Given the description of an element on the screen output the (x, y) to click on. 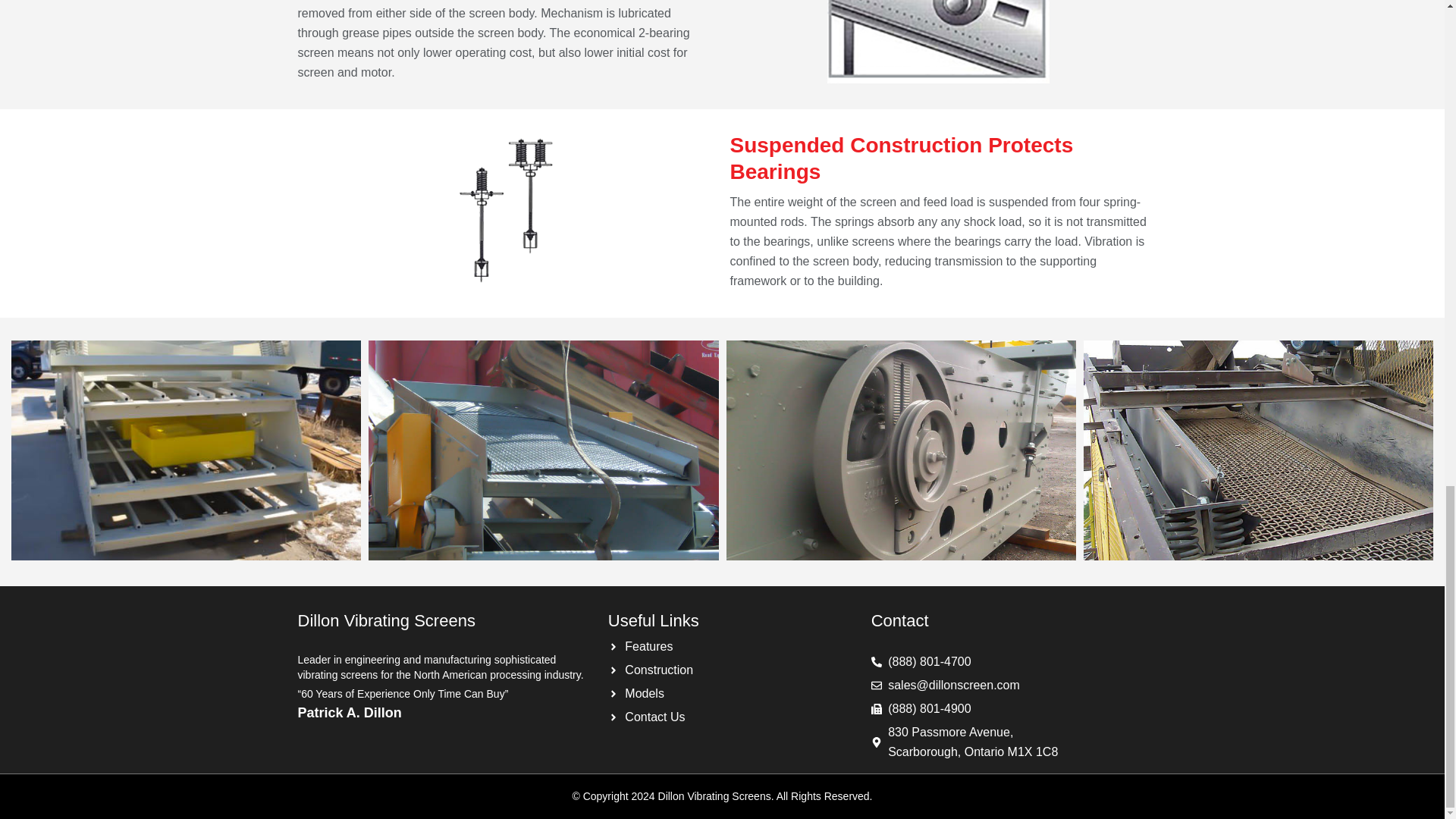
Models (635, 693)
Features (640, 646)
Construction (650, 670)
Contact Us (646, 717)
